Given the description of an element on the screen output the (x, y) to click on. 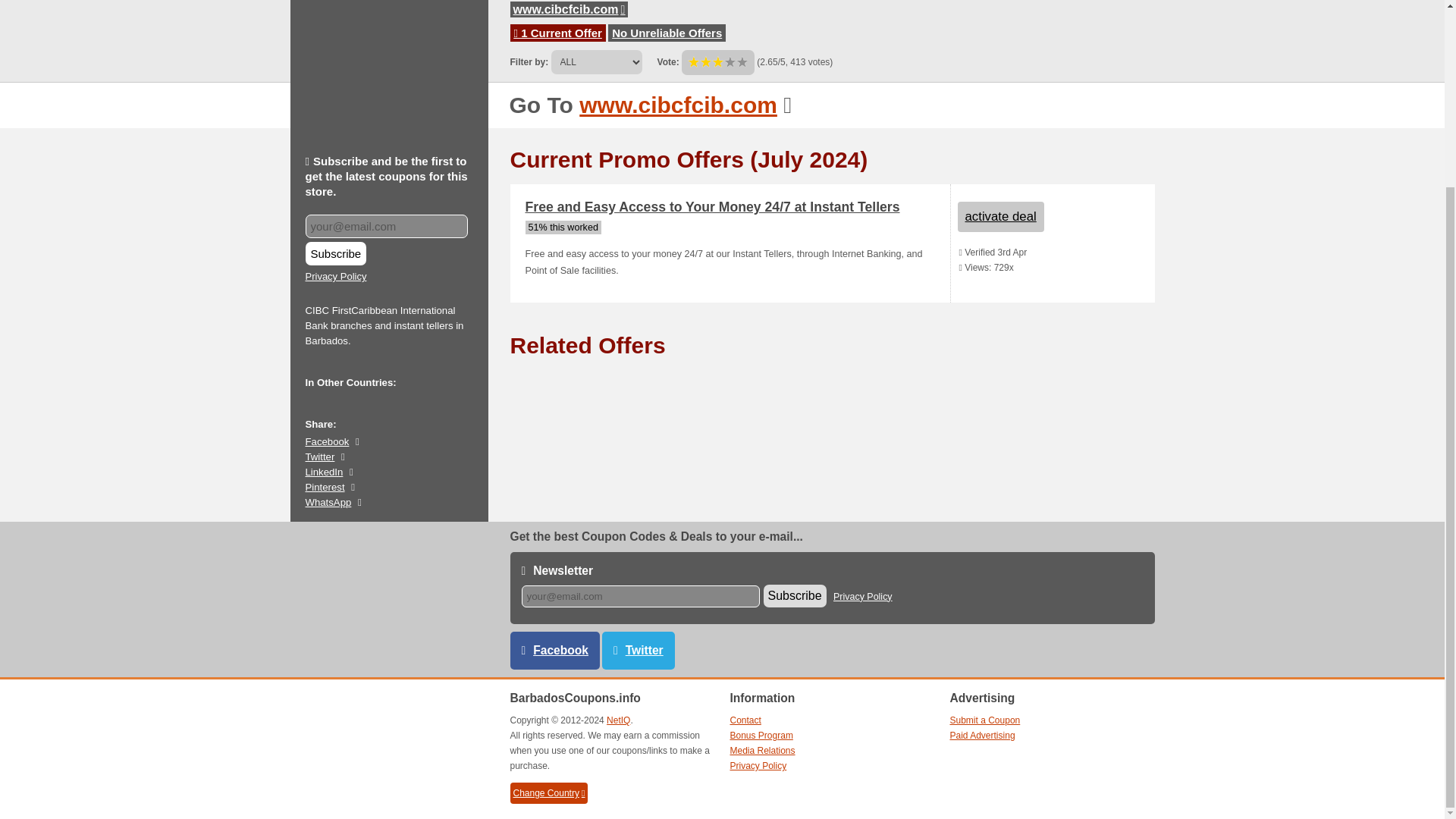
cibcfcib-com (568, 9)
No Unreliable Offers (666, 32)
www.cibcfcib.com (568, 9)
1 Current Offer (557, 32)
Cibcfcib.com (678, 104)
